Given the description of an element on the screen output the (x, y) to click on. 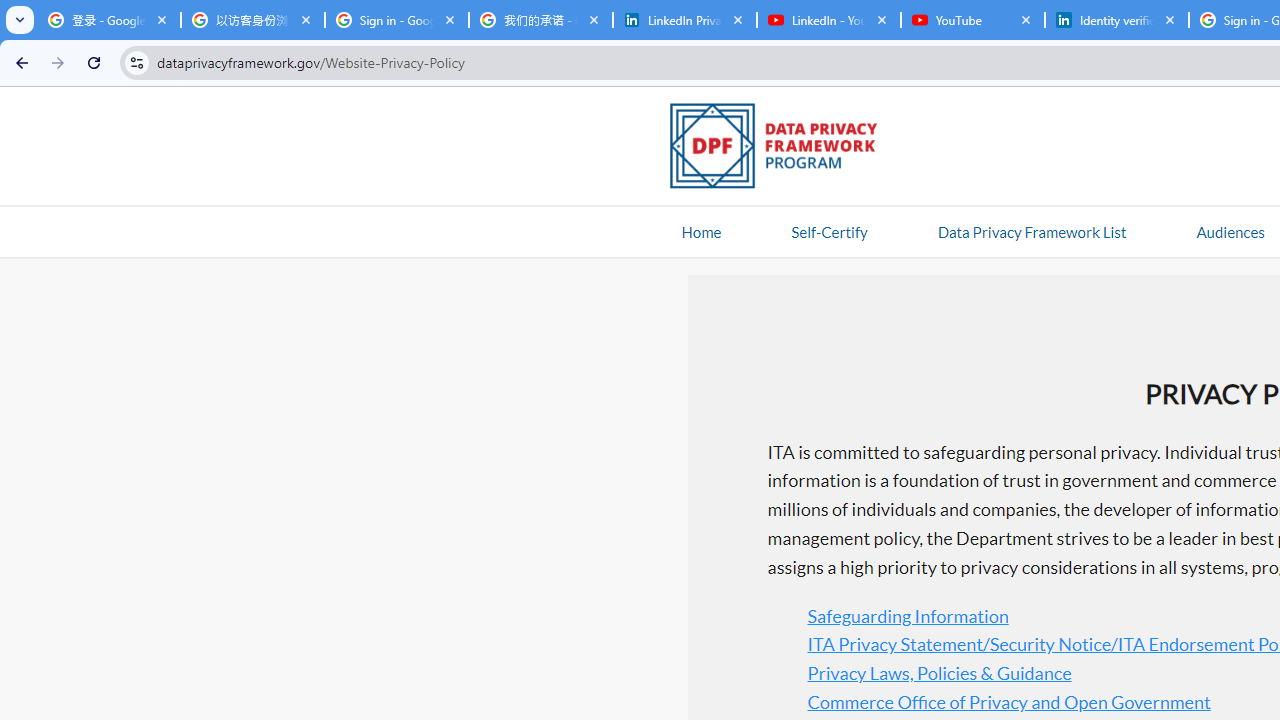
Audiences (1230, 231)
Data Privacy Framework List (1031, 231)
Home (701, 231)
Self-Certify (829, 231)
Privacy Laws, Policies & Guidance (939, 672)
YouTube (972, 20)
Data Privacy Framework Logo - Link to Homepage (783, 149)
LinkedIn - YouTube (828, 20)
